Given the description of an element on the screen output the (x, y) to click on. 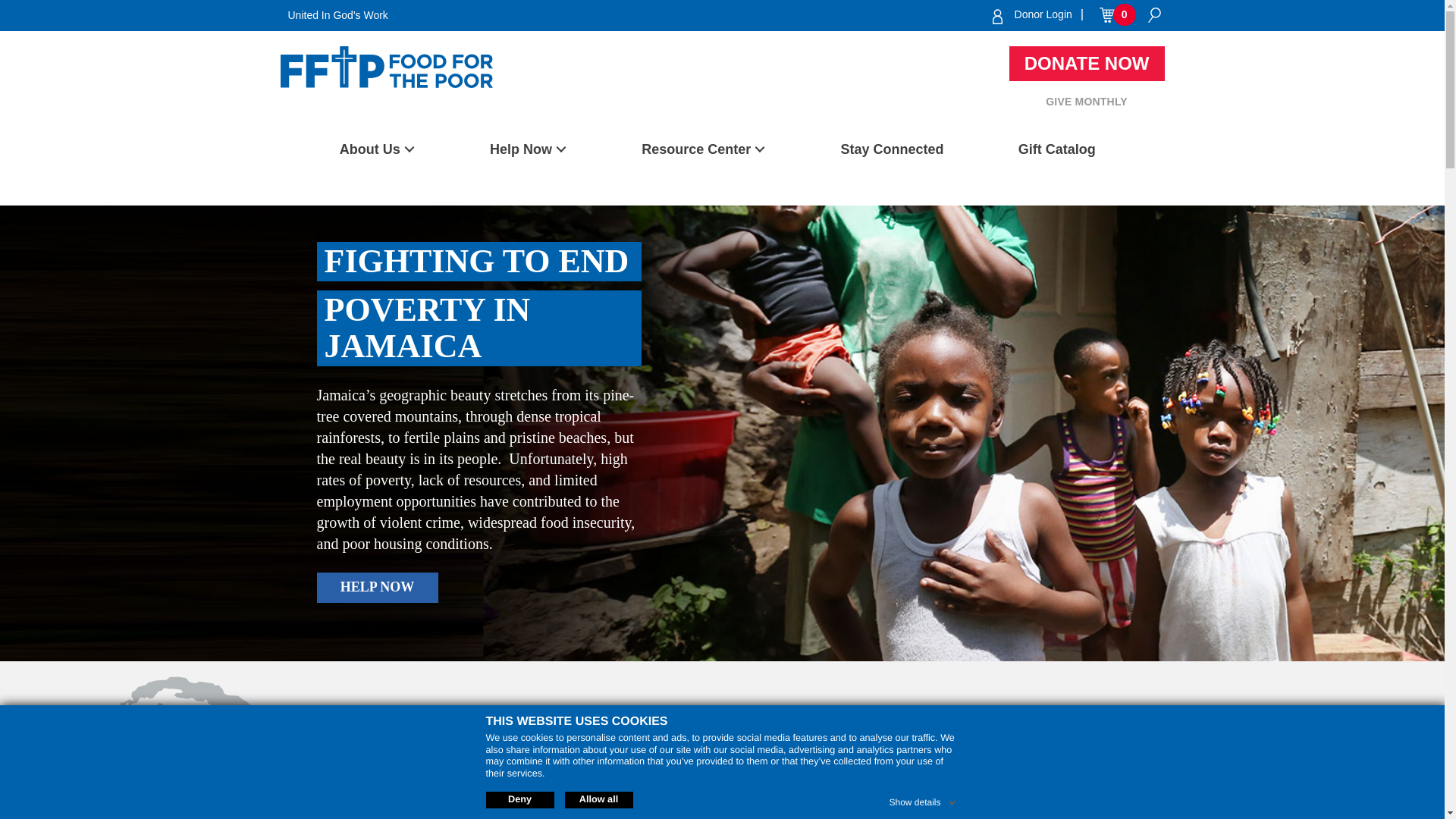
Deny (518, 799)
Allow all (597, 799)
Show details (923, 799)
